Given the description of an element on the screen output the (x, y) to click on. 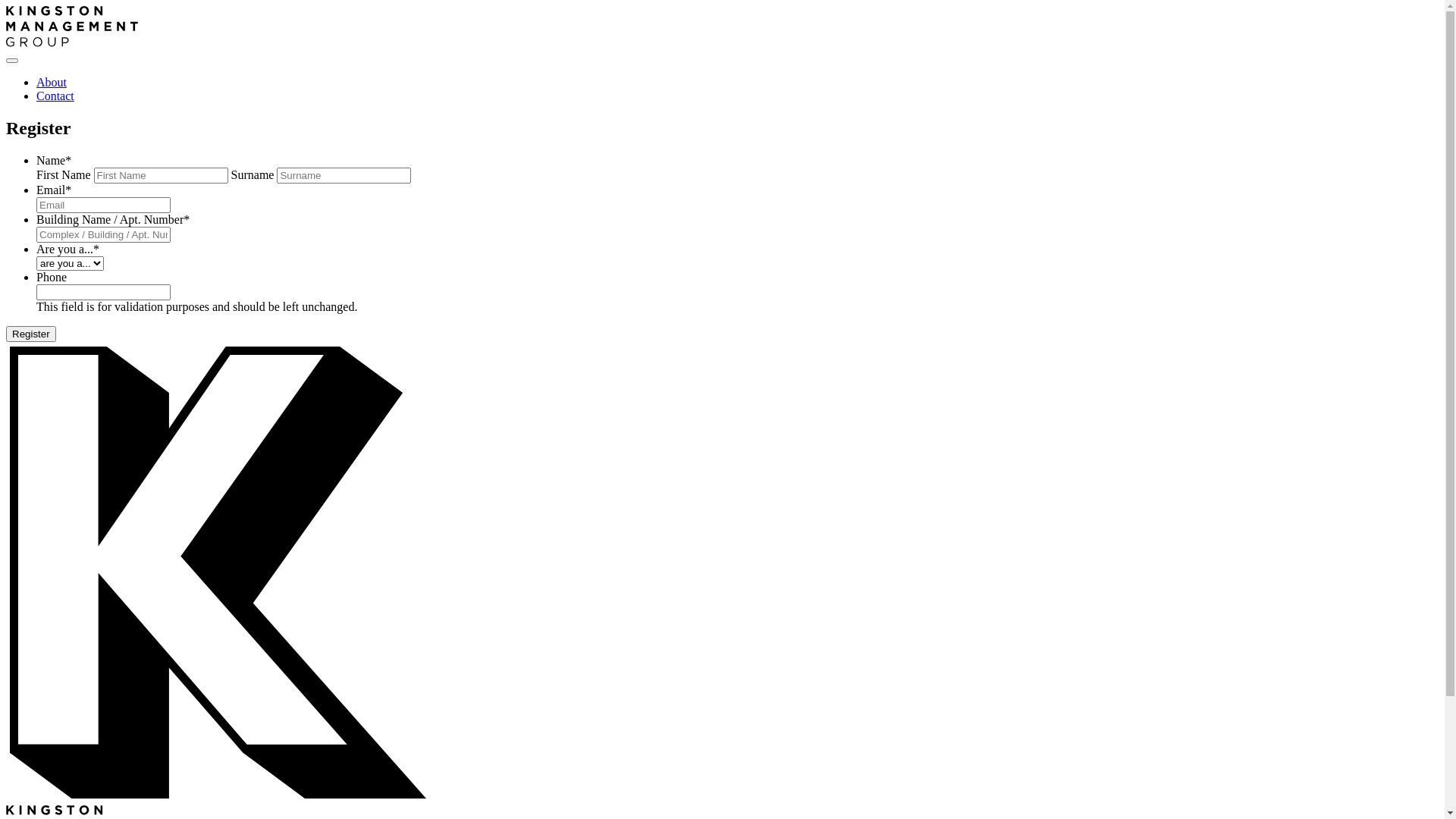
Register Element type: text (31, 334)
Contact Element type: text (55, 95)
Kingston Management Group Element type: text (72, 42)
About Element type: text (51, 81)
